Given the description of an element on the screen output the (x, y) to click on. 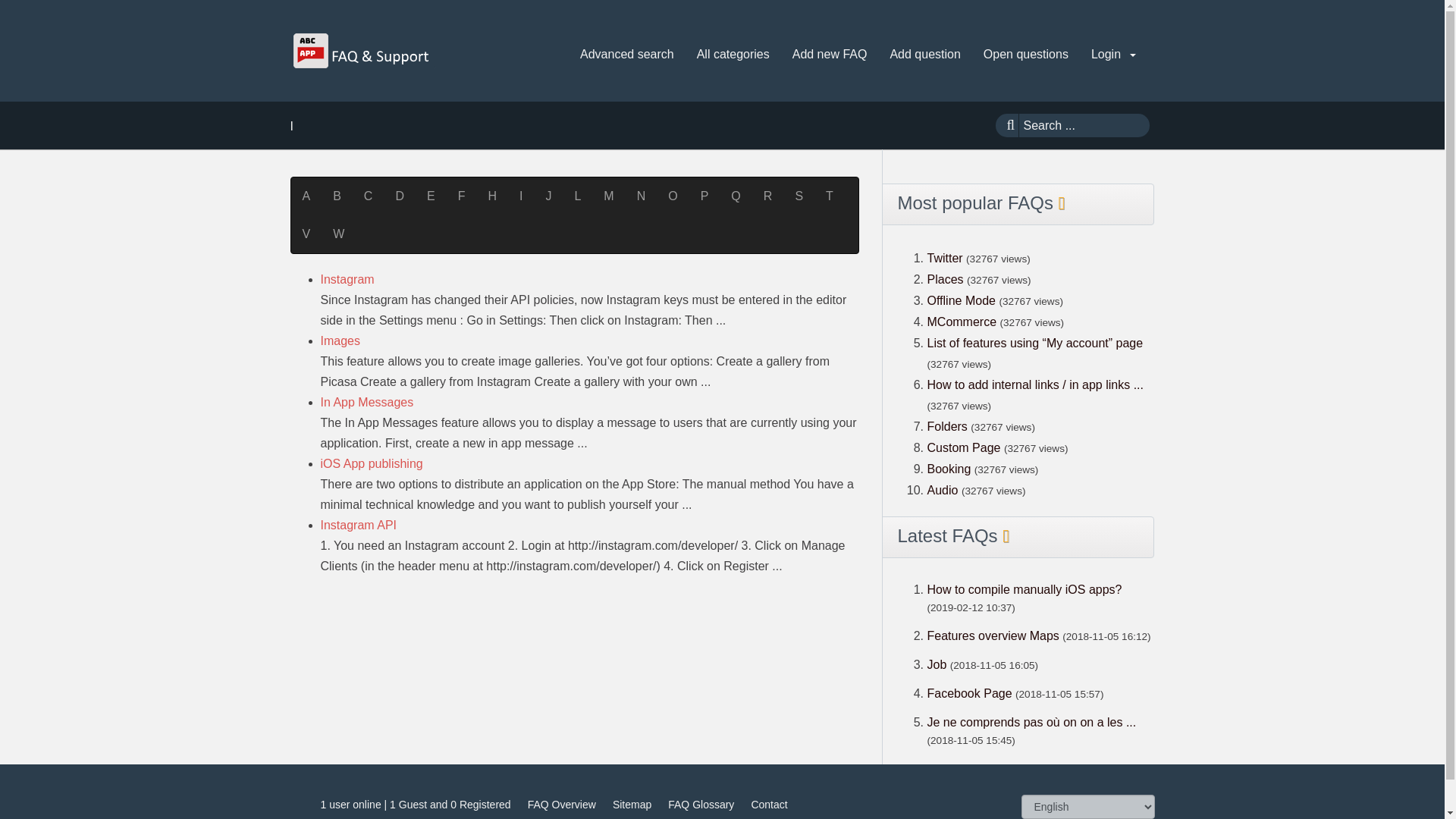
Instagram (347, 278)
All categories (732, 53)
Advanced search (626, 53)
ABCApp Support and manual (361, 50)
Images (339, 340)
Places (944, 278)
In App Messages (366, 401)
Add question (925, 53)
Images (339, 340)
Offline Mode (962, 300)
Open questions (1025, 53)
Instagram API (358, 524)
Instagram (347, 278)
W (338, 234)
Add new FAQ (829, 53)
